Given the description of an element on the screen output the (x, y) to click on. 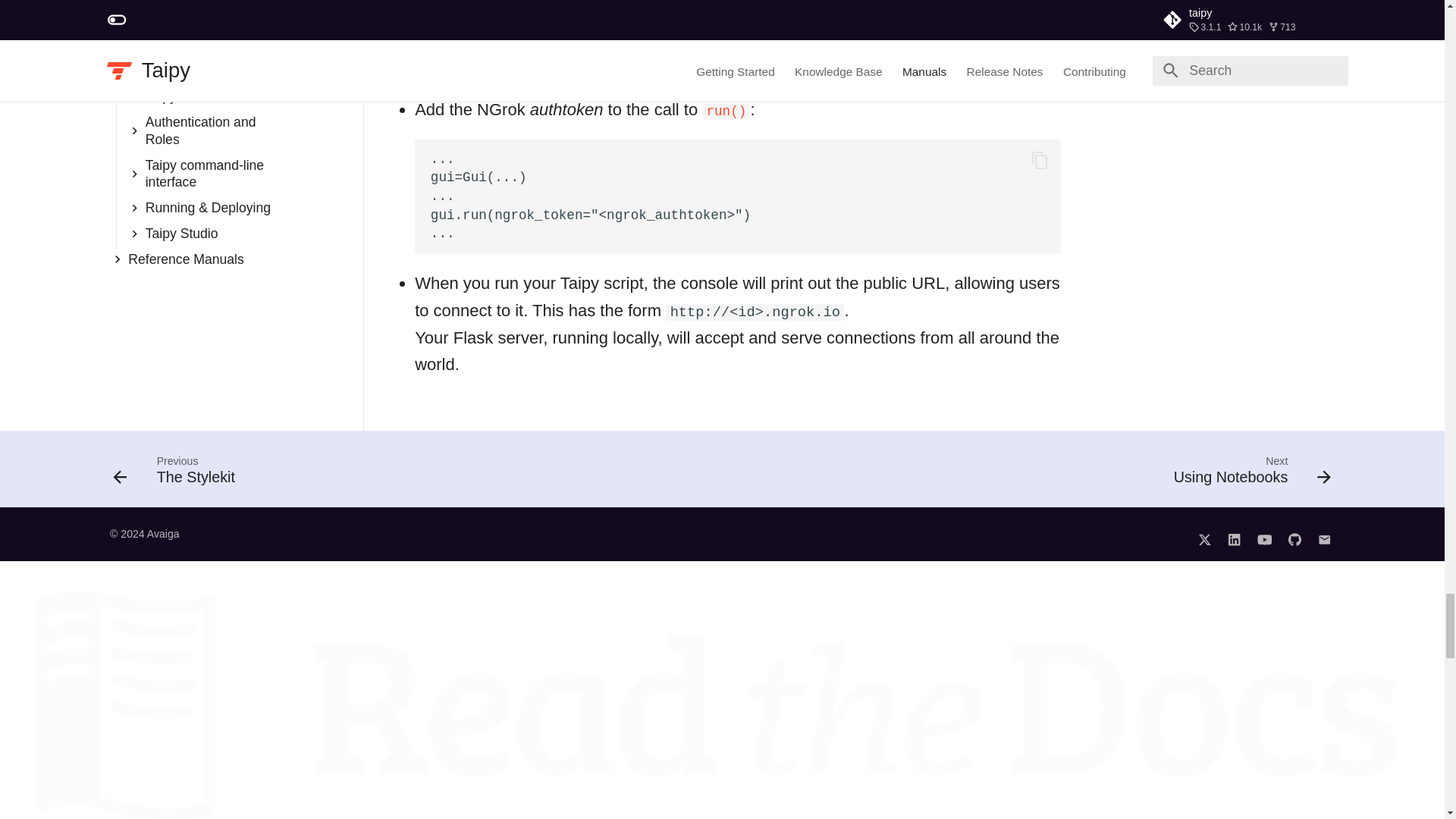
Github (1294, 533)
YouTube (1264, 533)
Tweet (1204, 533)
LinkedIn (1234, 533)
Copy to clipboard (1039, 160)
